Given the description of an element on the screen output the (x, y) to click on. 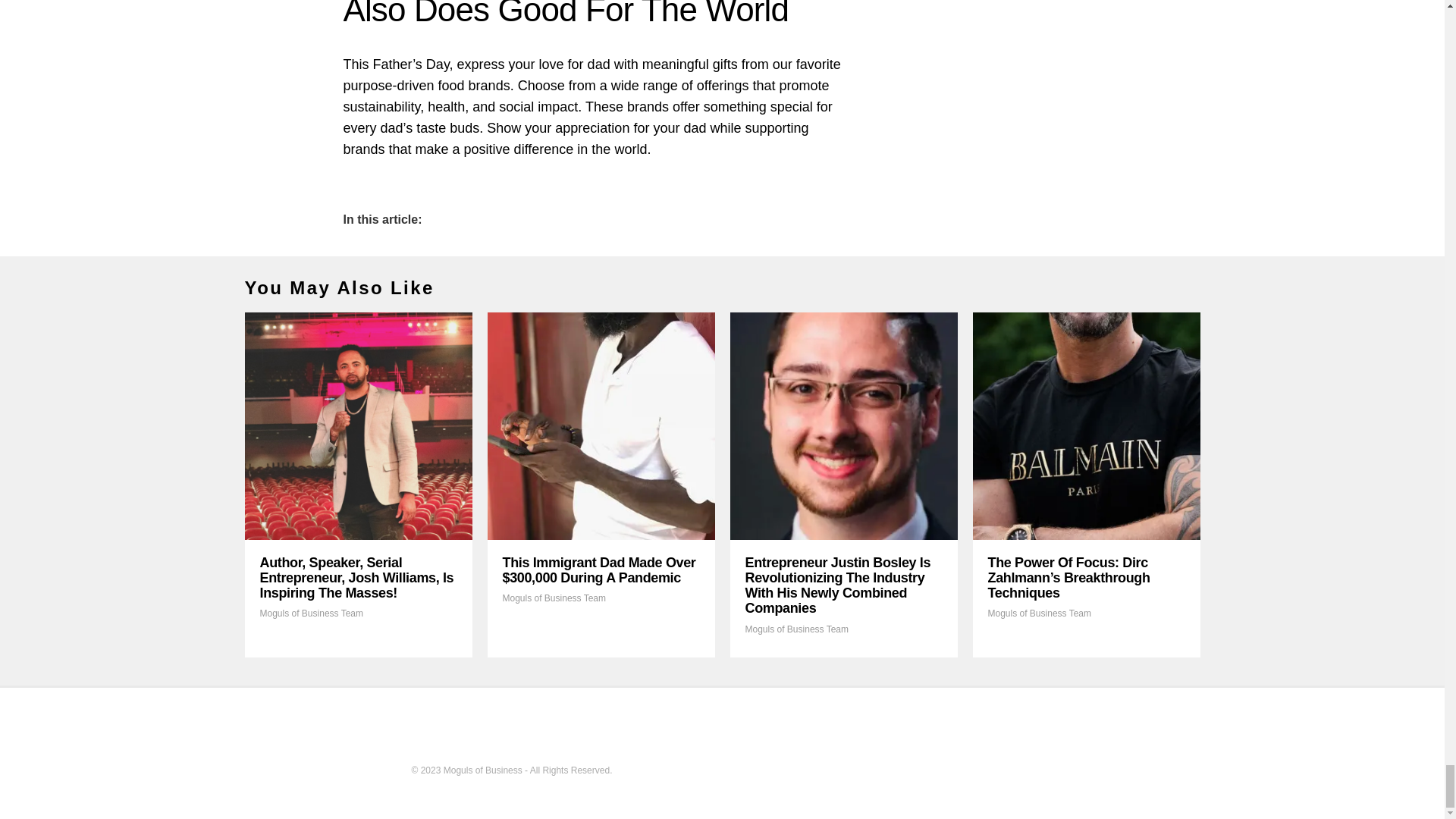
Posts by Moguls of Business Team (310, 613)
Posts by Moguls of Business Team (1038, 613)
Posts by Moguls of Business Team (796, 629)
Posts by Moguls of Business Team (553, 597)
